Given the description of an element on the screen output the (x, y) to click on. 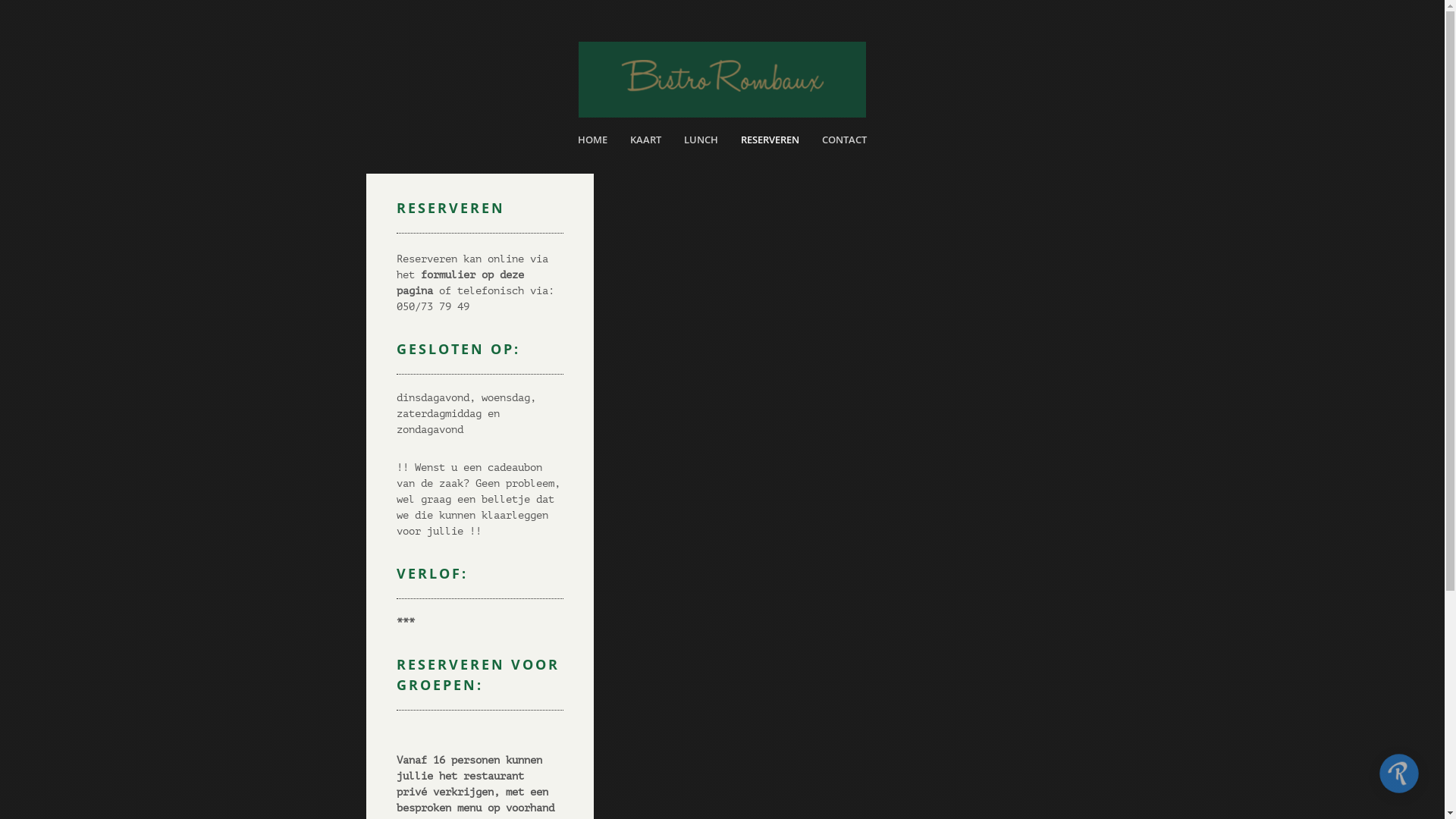
RESERVEREN Element type: text (769, 143)
KAART Element type: text (645, 143)
LUNCH Element type: text (700, 143)
Bistro Rombaux Element type: text (722, 79)
CONTACT Element type: text (844, 143)
HOME Element type: text (592, 143)
